Given the description of an element on the screen output the (x, y) to click on. 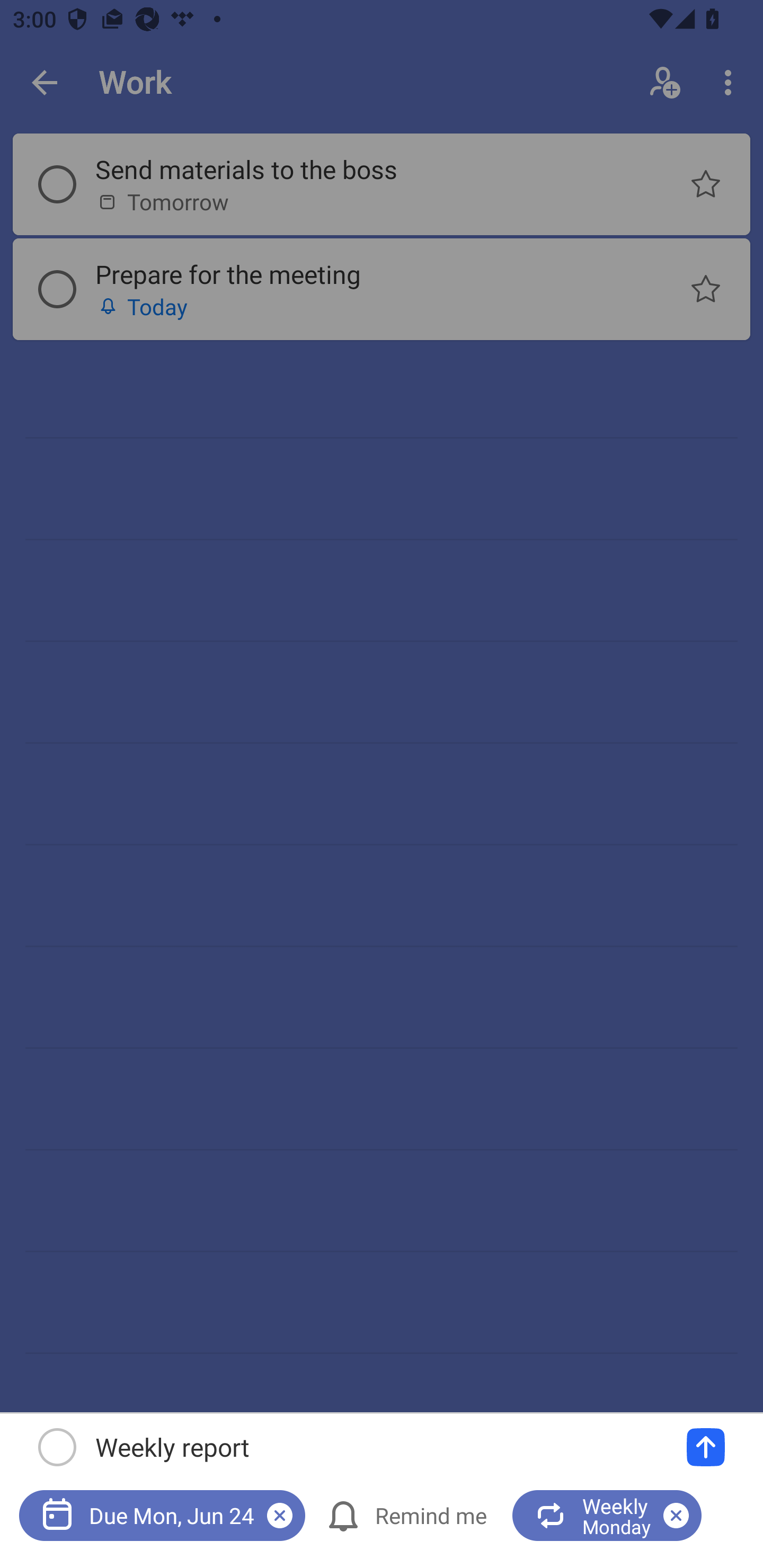
Add a task (705, 1446)
